Given the description of an element on the screen output the (x, y) to click on. 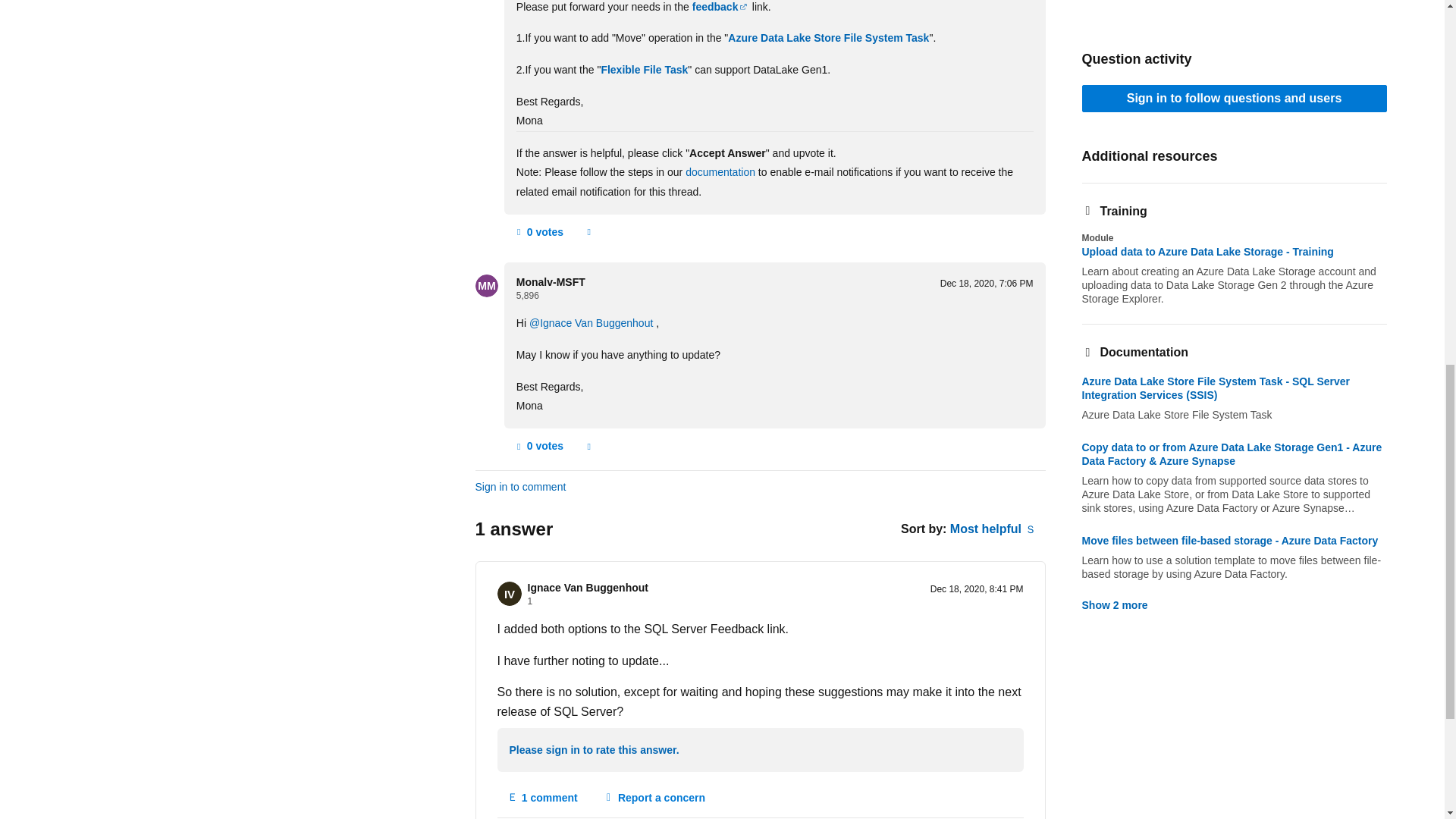
Report a concern (588, 446)
This comment is helpful (538, 232)
Reputation points (527, 295)
This comment is helpful (538, 446)
Report a concern (588, 232)
